Given the description of an element on the screen output the (x, y) to click on. 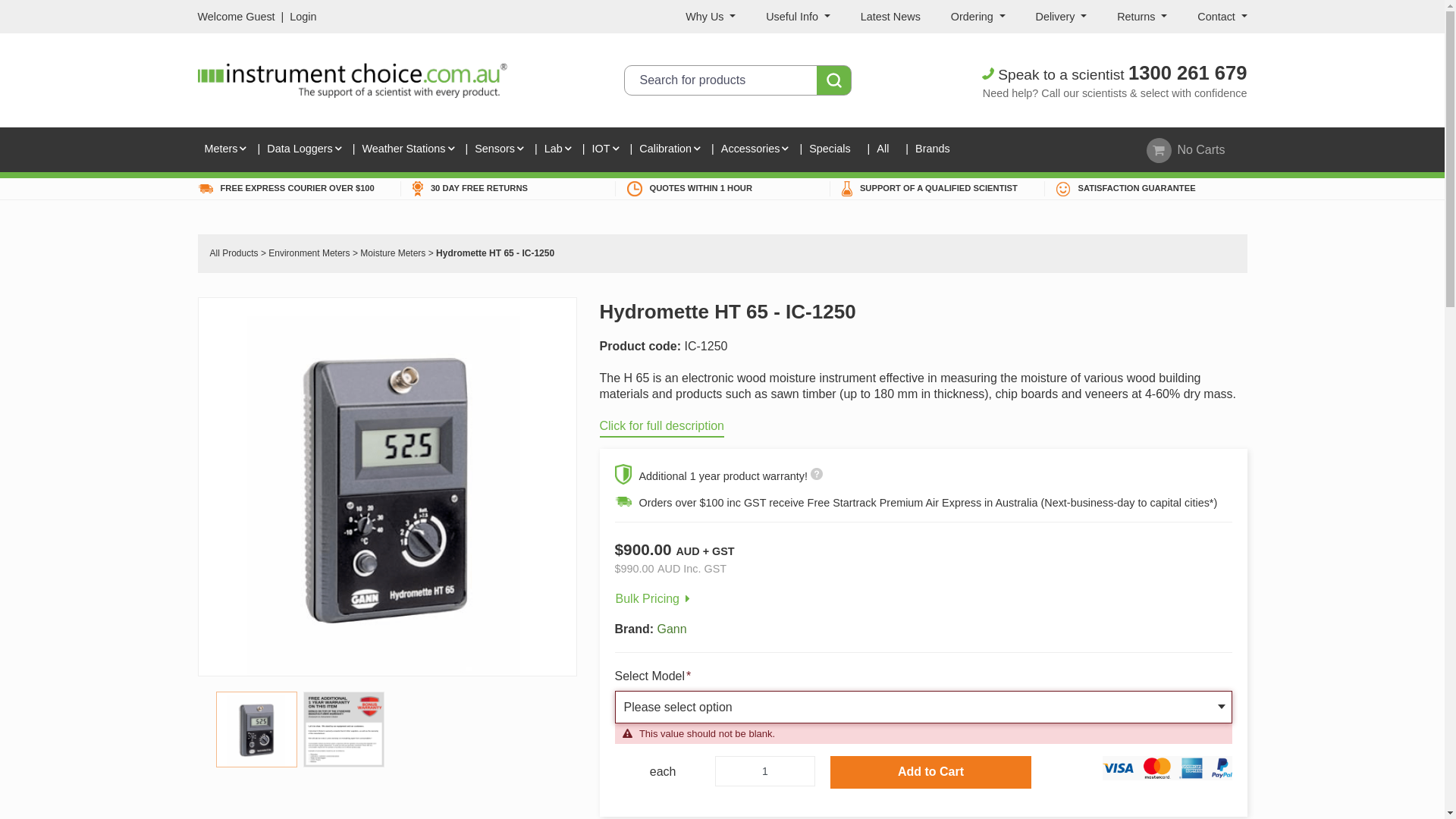
Latest News Element type: text (890, 16)
FREE EXPRESS COURIER OVER $100 Element type: text (292, 188)
SUPPORT OF A QUALIFIED SCIENTIST Element type: text (930, 188)
Contact Element type: text (1221, 16)
Environment Meters Element type: text (308, 252)
Hydromette HT 65 - IC-1250 Element type: text (495, 252)
Lab Element type: text (556, 149)
QUOTES WITHIN 1 HOUR Element type: text (715, 188)
1300 737 871 Element type: text (1187, 72)
Calibration Element type: text (668, 149)
Search for products Element type: text (736, 80)
Meters Element type: text (224, 149)
Accessories Element type: text (753, 149)
Please select option Element type: text (923, 706)
Moisture Meters Element type: text (392, 252)
Sensors Element type: text (497, 149)
Returns Element type: text (1142, 16)
No Carts Element type: text (1188, 149)
Why Us Element type: text (710, 16)
Weather Stations Element type: text (406, 149)
Login Element type: text (302, 16)
All Products Element type: text (233, 252)
Useful Info Element type: text (797, 16)
Delivery Element type: text (1061, 16)
Data Loggers Element type: text (302, 149)
IOT Element type: text (604, 149)
SATISFACTION GUARANTEE Element type: text (1144, 188)
All Element type: text (885, 149)
Click for full description Element type: text (661, 428)
Brands Element type: text (935, 149)
Bulk Pricing Element type: text (653, 592)
Specials Element type: text (832, 149)
Ordering Element type: text (977, 16)
Add to Cart Element type: text (930, 772)
30 DAY FREE RETURNS Element type: text (501, 188)
